Given the description of an element on the screen output the (x, y) to click on. 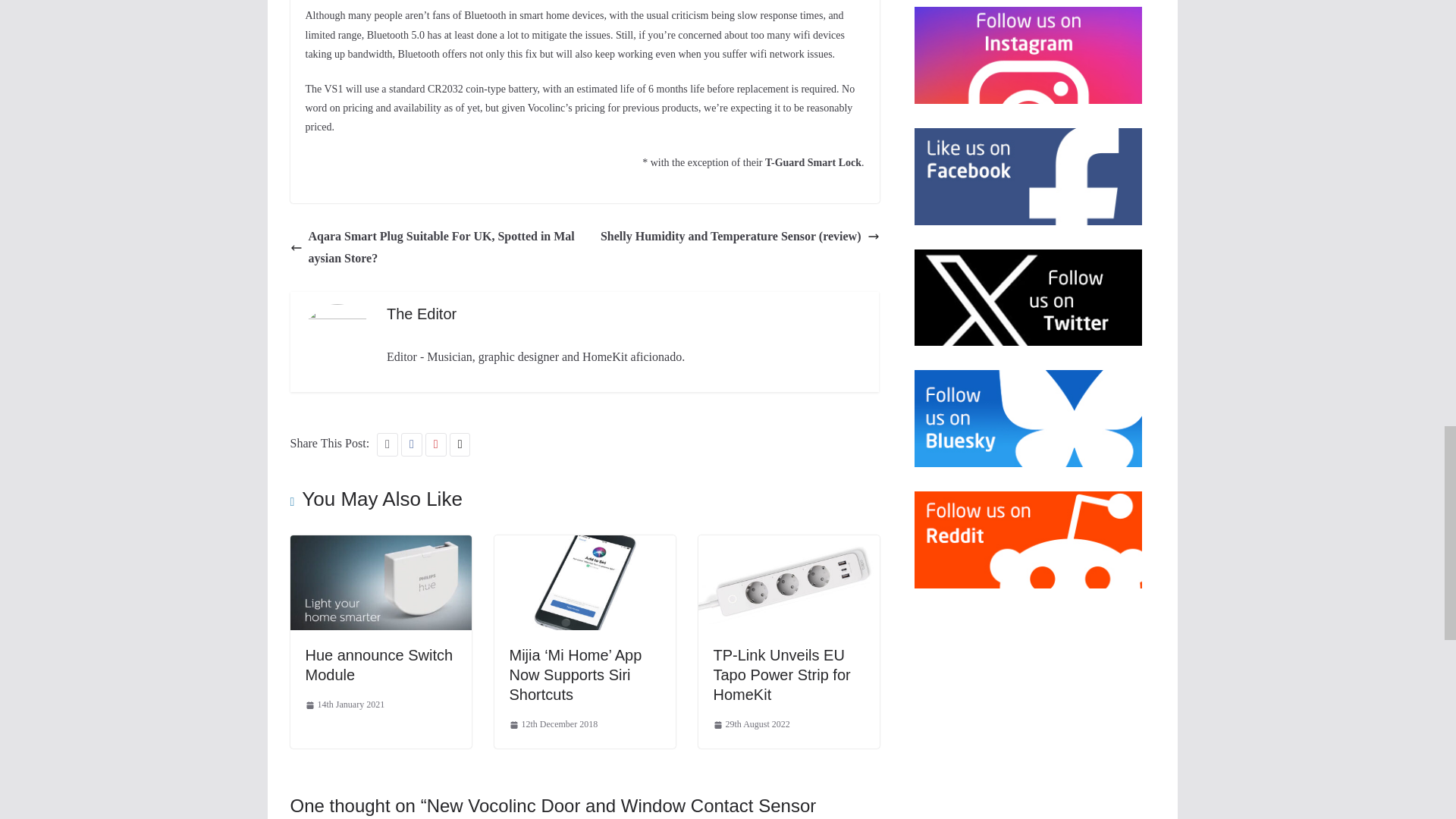
6:02 pm (344, 704)
Hue announce Switch Module (378, 665)
Hue announce Switch Module (379, 545)
9:08 pm (751, 724)
TP-Link Unveils EU Tapo Power Strip for HomeKit (788, 545)
9:34 am (553, 724)
TP-Link Unveils EU Tapo Power Strip for HomeKit (781, 674)
